Given the description of an element on the screen output the (x, y) to click on. 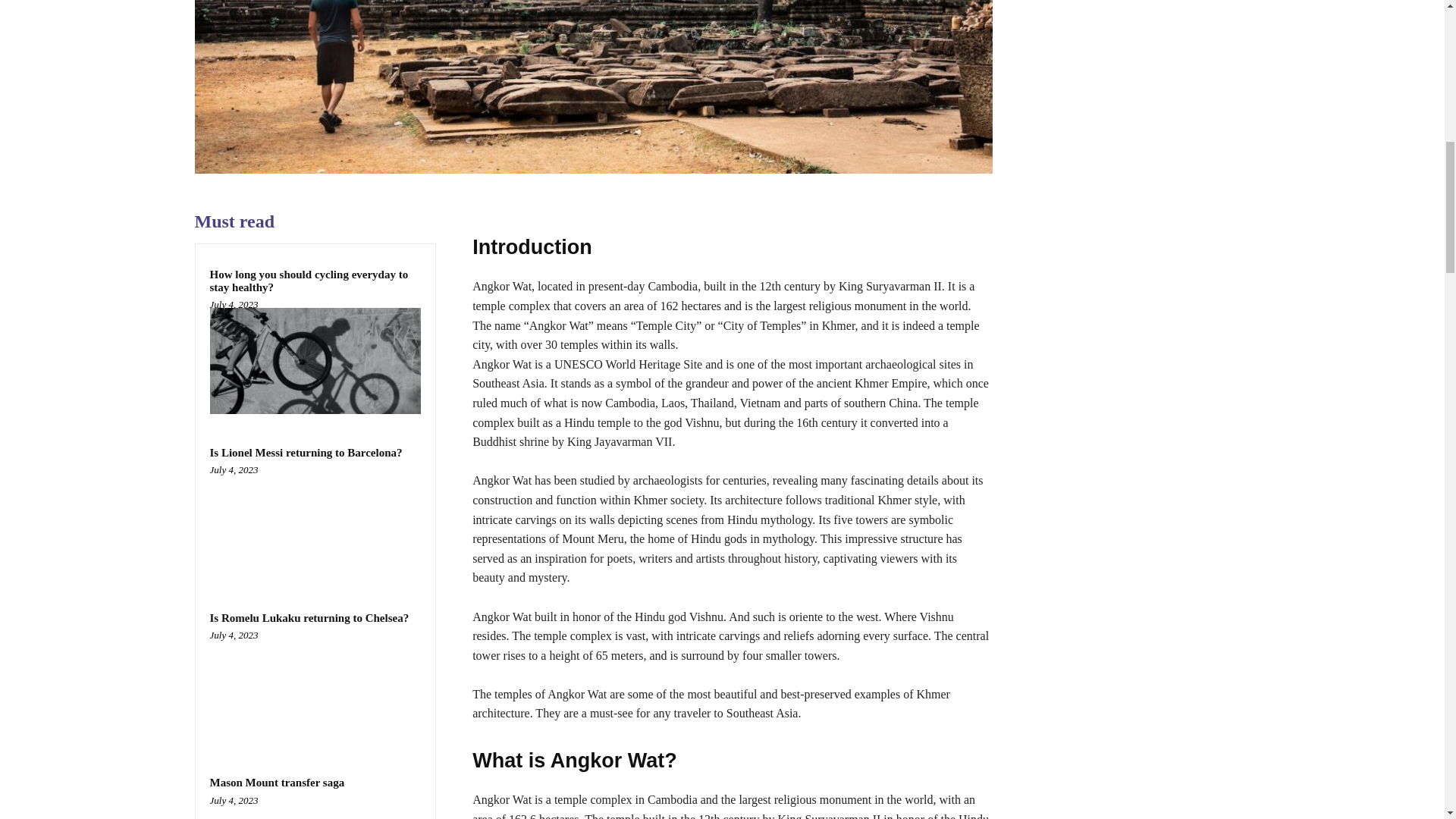
How long you should cycling everyday to stay healthy? (314, 360)
Is Lionel Messi returning to Barcelona? (314, 525)
How long you should cycling everyday to stay healthy? (308, 280)
